Given the description of an element on the screen output the (x, y) to click on. 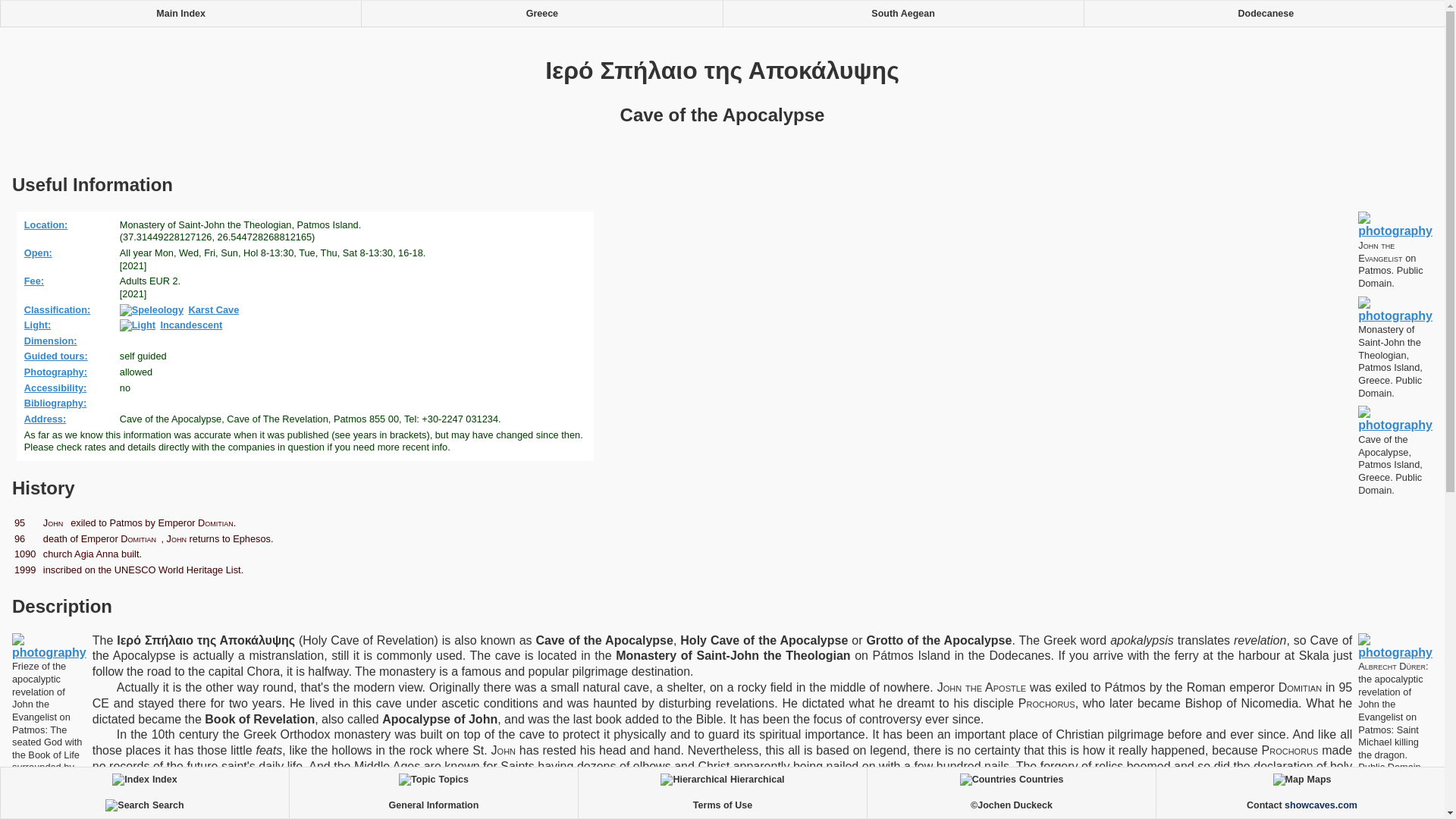
Countries (1011, 780)
South Aegean (902, 13)
Classification: (60, 308)
Main Index (180, 13)
Dimension: (52, 340)
Karst Cave (181, 308)
Accessibility: (57, 387)
Open: (40, 252)
Address: (47, 419)
Photography: (58, 371)
